Given the description of an element on the screen output the (x, y) to click on. 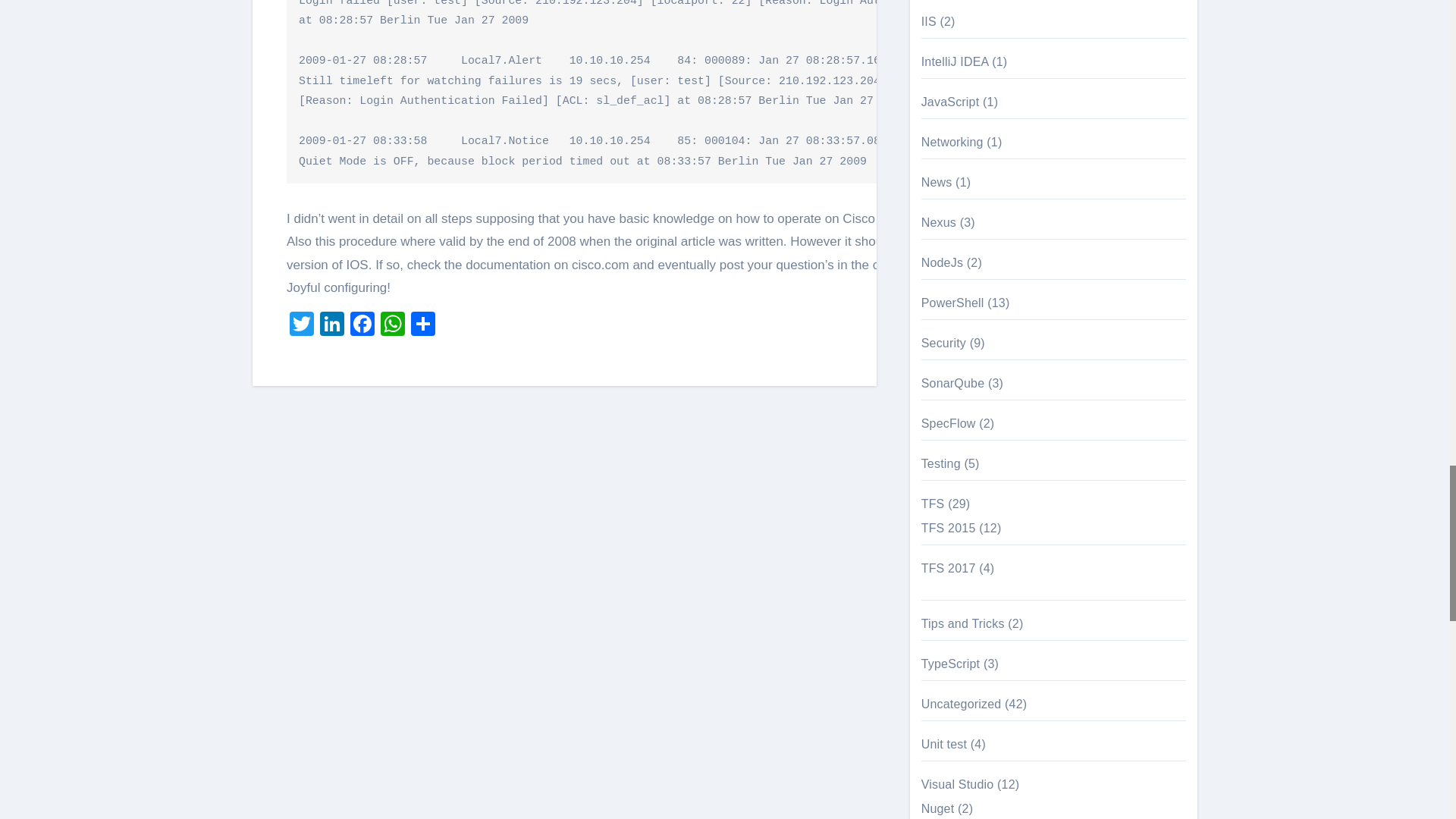
Twitter (301, 325)
LinkedIn (332, 325)
Twitter (301, 325)
WhatsApp (392, 325)
Facebook (362, 325)
WhatsApp (392, 325)
Facebook (362, 325)
LinkedIn (332, 325)
